Given the description of an element on the screen output the (x, y) to click on. 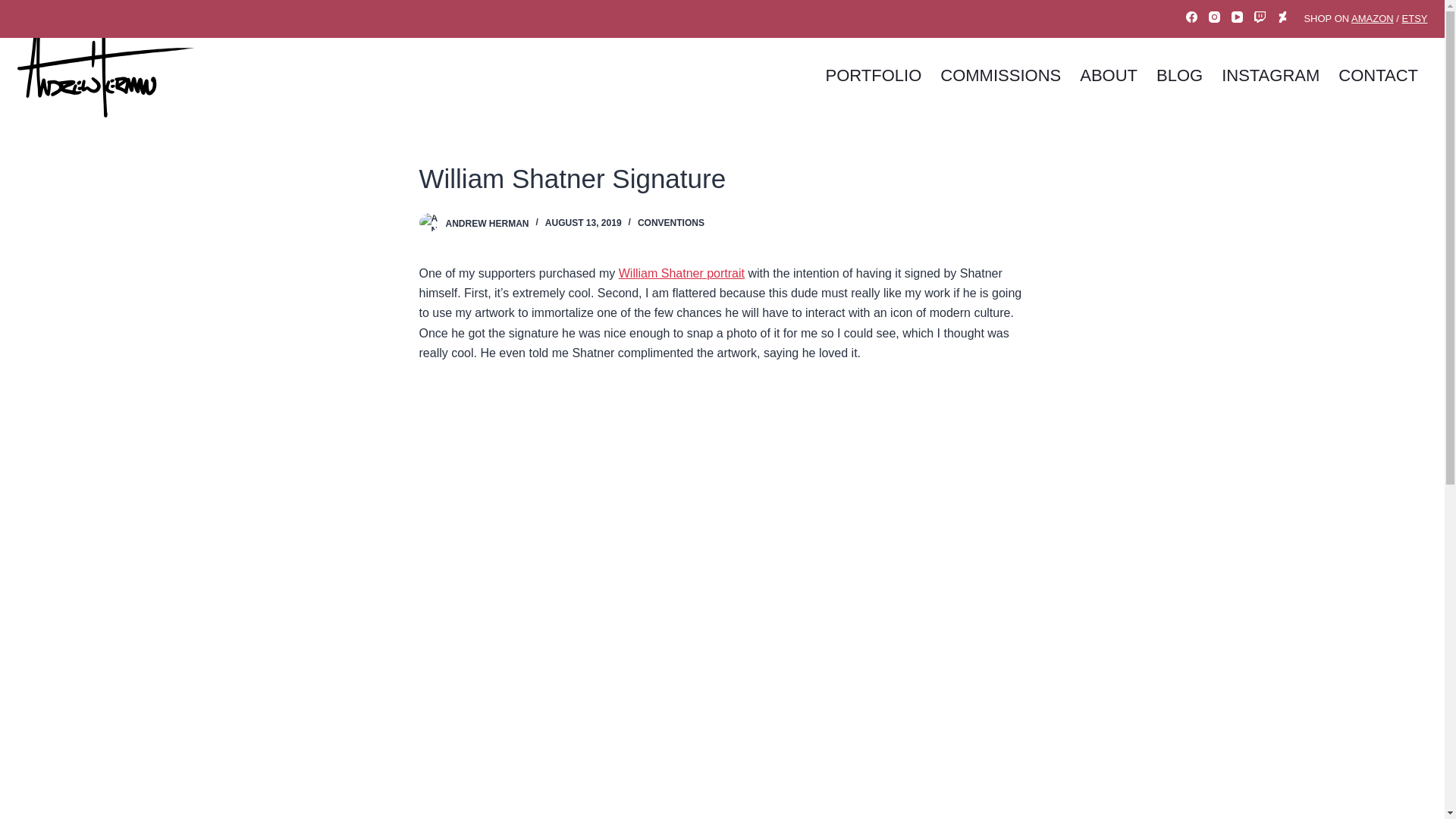
AMAZON (1372, 18)
William Shatner portrait (681, 273)
Posts by Andrew Herman (487, 222)
ETSY (1415, 18)
Skip to content (15, 7)
ABOUT (1108, 75)
CONVENTIONS (670, 222)
CONTACT (1378, 75)
INSTAGRAM (1270, 75)
William Shatner Signature (722, 178)
ANDREW HERMAN (487, 222)
PORTFOLIO (873, 75)
COMMISSIONS (1000, 75)
